Given the description of an element on the screen output the (x, y) to click on. 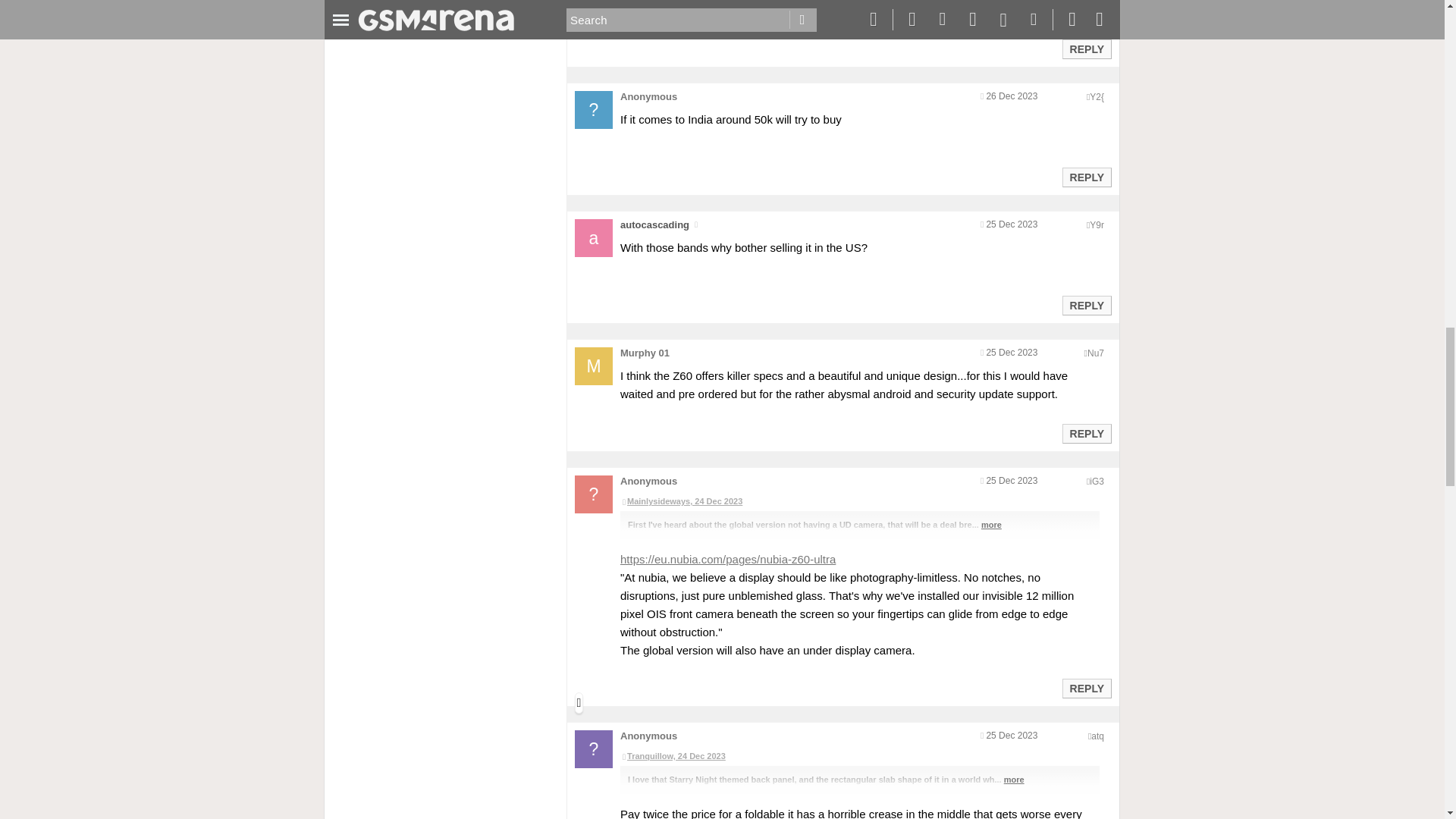
Reply to this post (1086, 49)
